Given the description of an element on the screen output the (x, y) to click on. 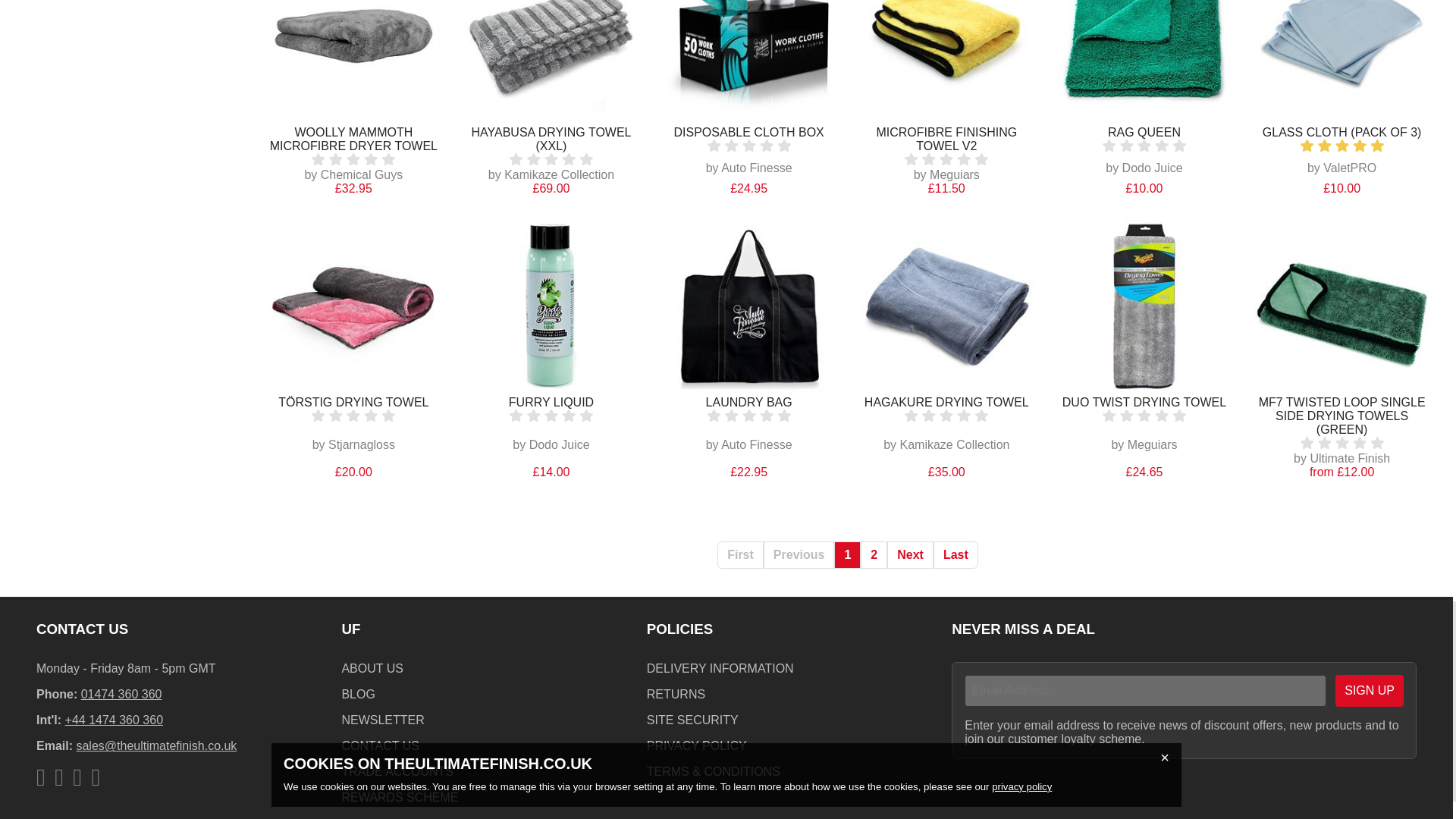
Sign Up (1369, 690)
